Given the description of an element on the screen output the (x, y) to click on. 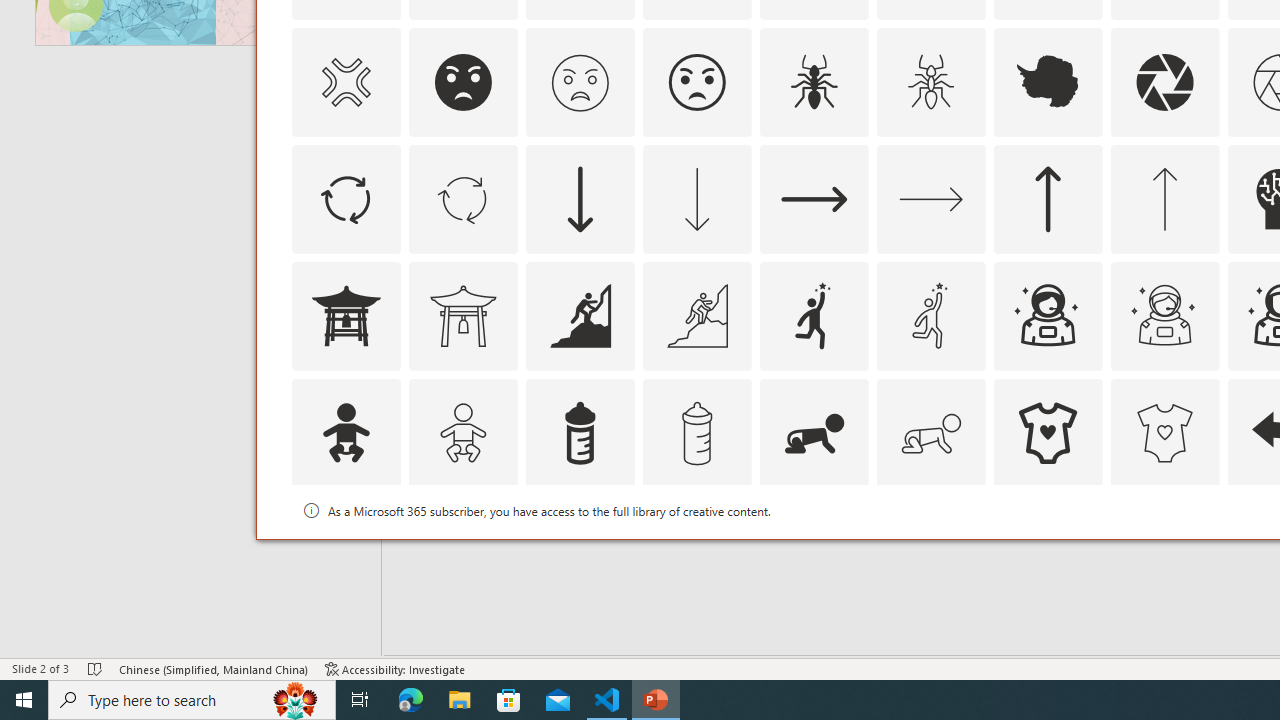
AutomationID: Icons_Antarctica (1048, 82)
AutomationID: Icons_ArrowDown (579, 198)
AutomationID: Icons (1048, 550)
AutomationID: Icons_ArrowDown_M (696, 198)
AutomationID: Icons_Baby (345, 432)
AutomationID: Icons_Aspiration (579, 316)
